Given the description of an element on the screen output the (x, y) to click on. 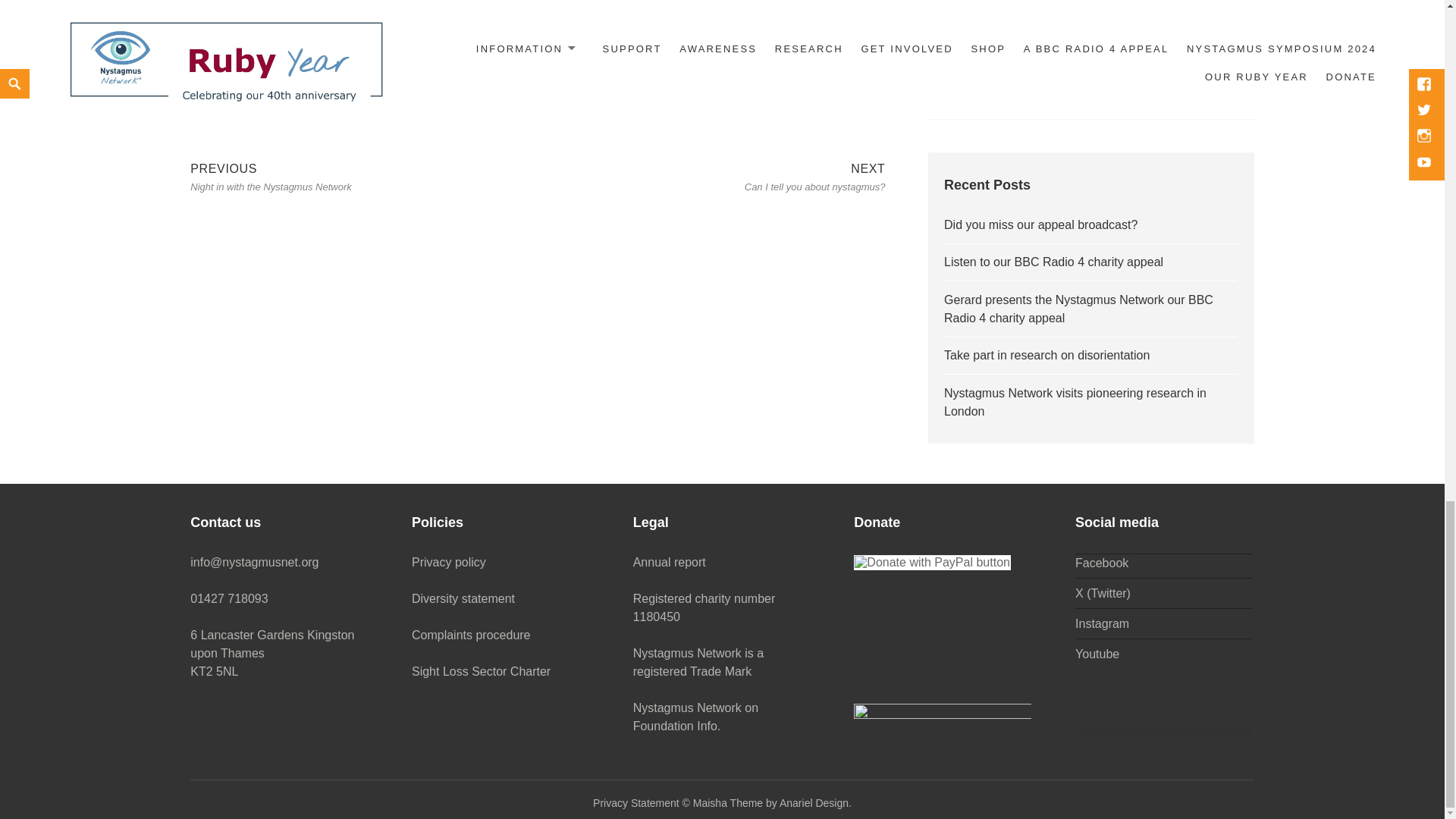
Can I tell you about nystagmus? (519, 17)
Nystagmus Network (772, 802)
PayPal - The safer, easier way to pay online! (814, 175)
Skiing with nystagmus (931, 562)
Nystagmus Network (255, 50)
